Given the description of an element on the screen output the (x, y) to click on. 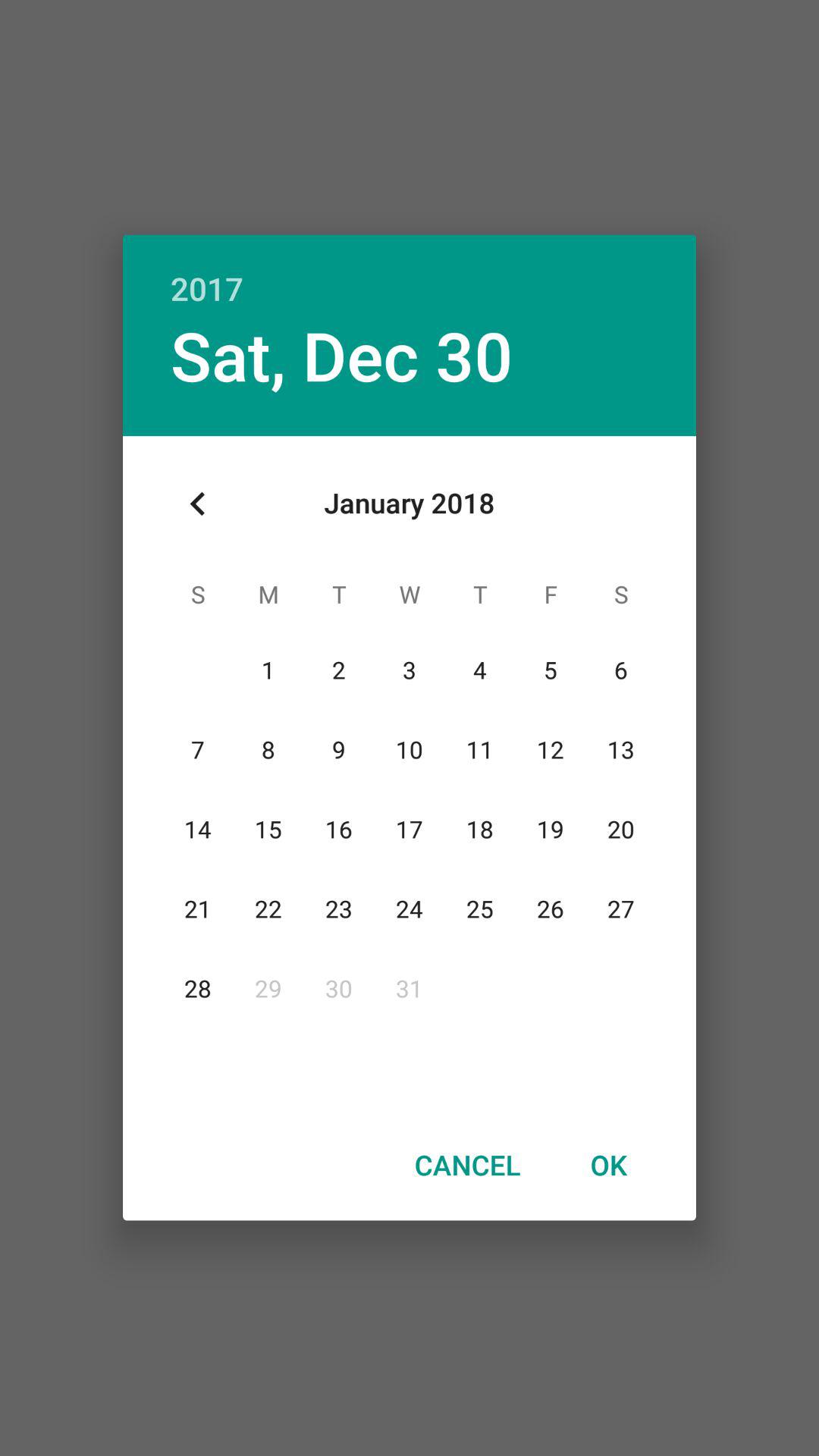
choose icon to the left of ok icon (467, 1164)
